Given the description of an element on the screen output the (x, y) to click on. 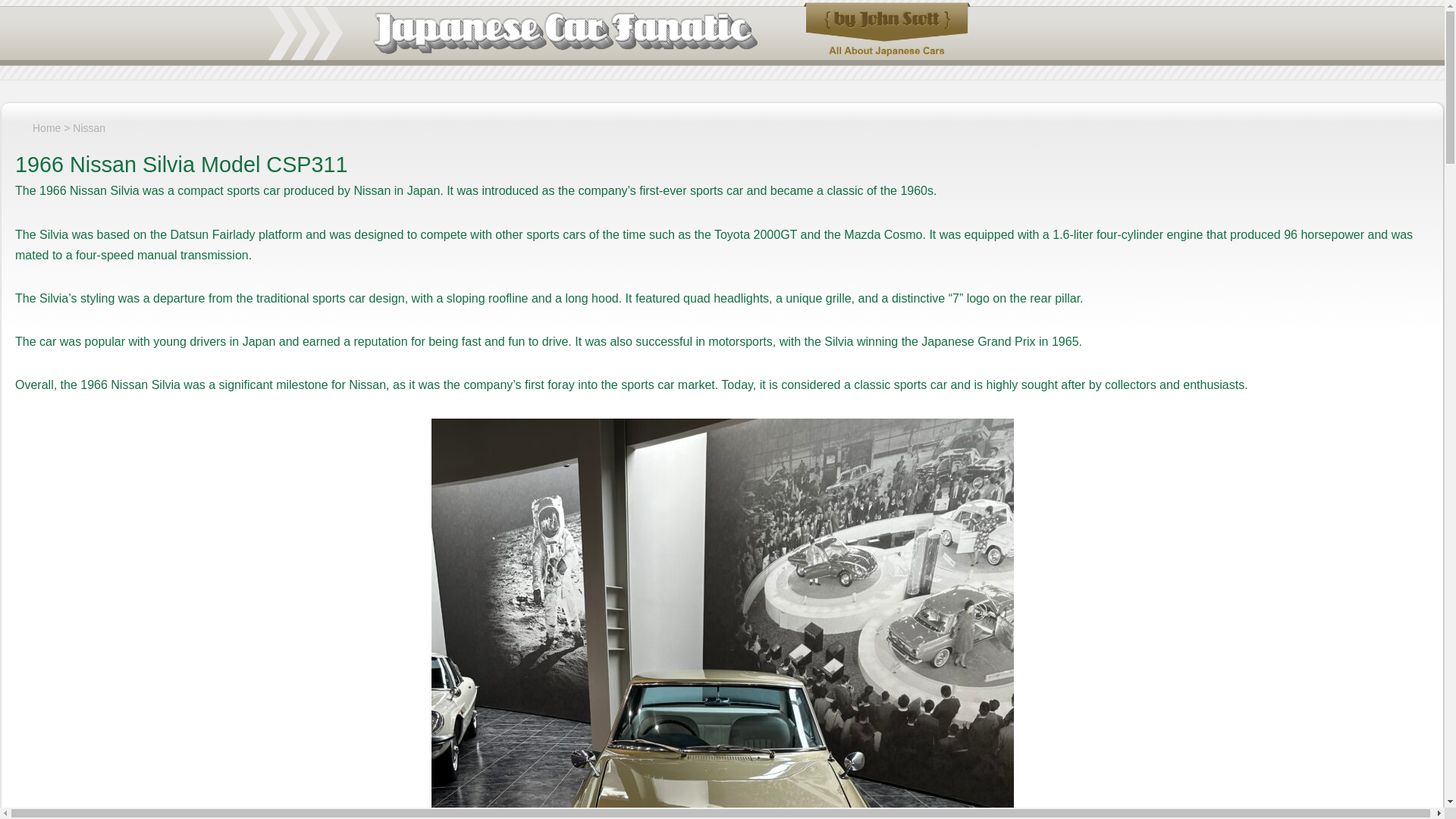
Nissan (88, 128)
Home (37, 128)
Japanese Car Fanatic (617, 34)
JAPANESE CAR FANATIC (108, 14)
